Given the description of an element on the screen output the (x, y) to click on. 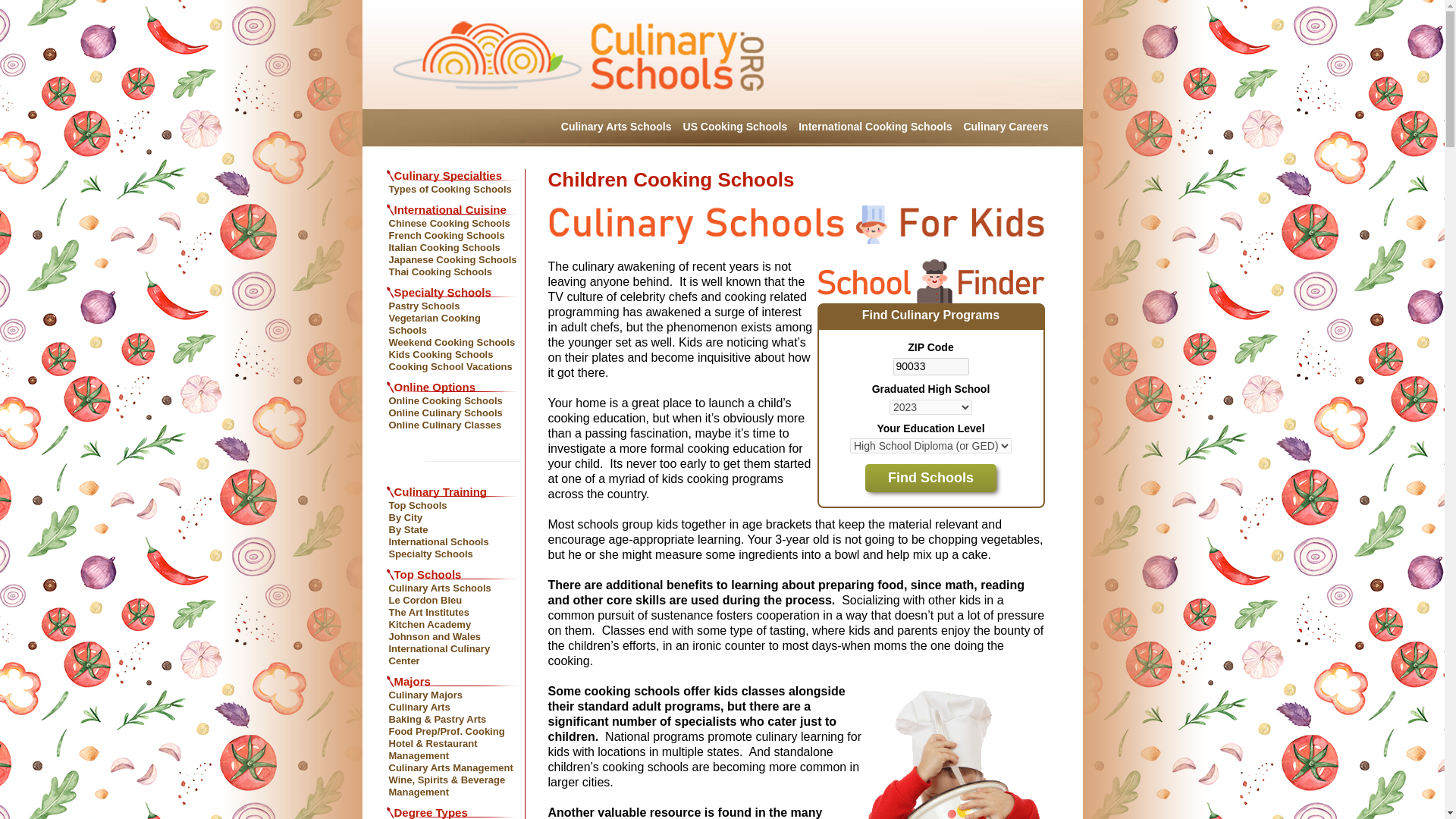
Find Schools (929, 478)
Culinary Arts Schools (615, 131)
90033 (931, 366)
US Cooking Schools (734, 131)
Culinary Careers (1005, 131)
International Cooking Schools (874, 131)
